Given the description of an element on the screen output the (x, y) to click on. 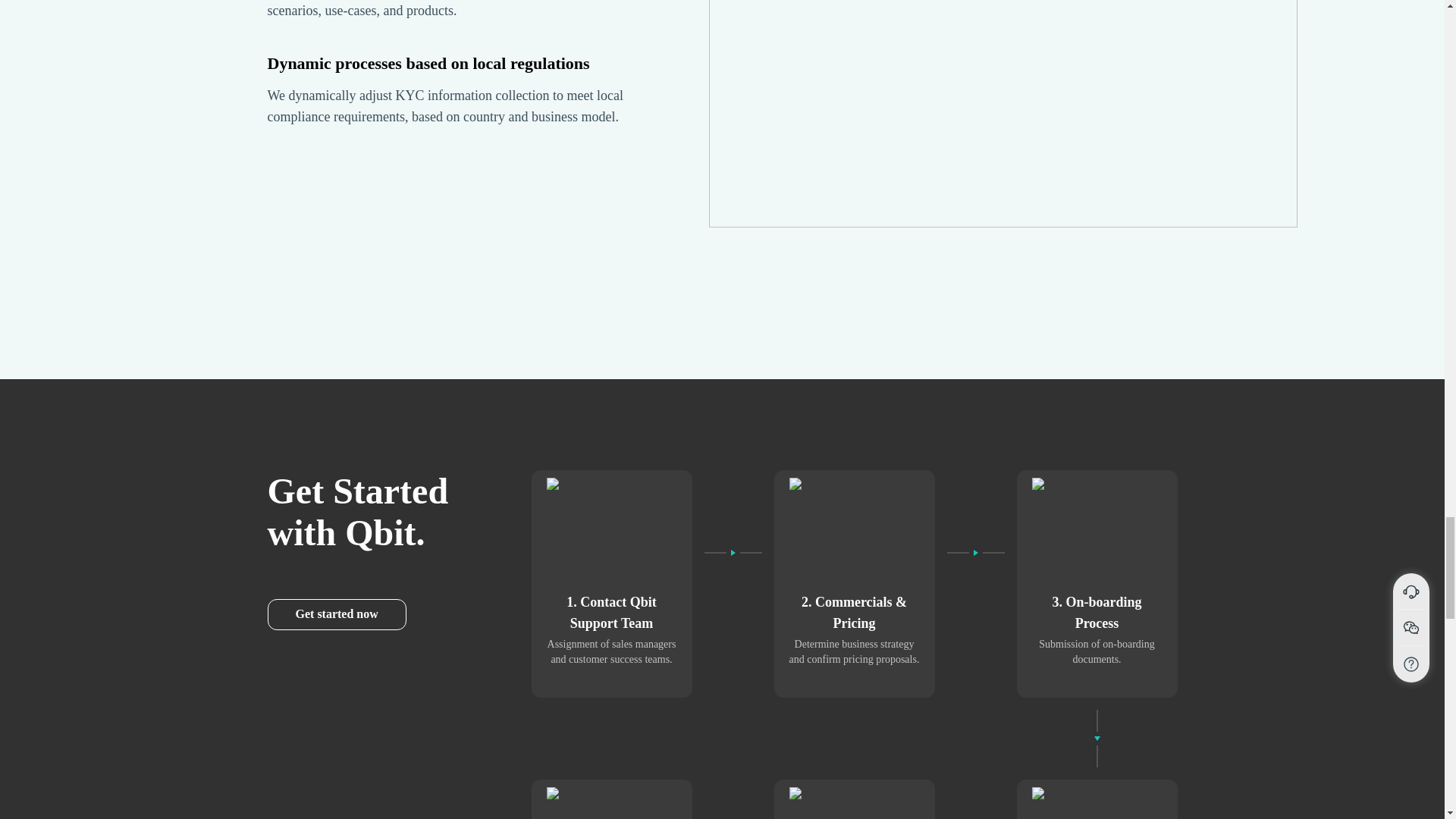
Get started now (336, 613)
